Given the description of an element on the screen output the (x, y) to click on. 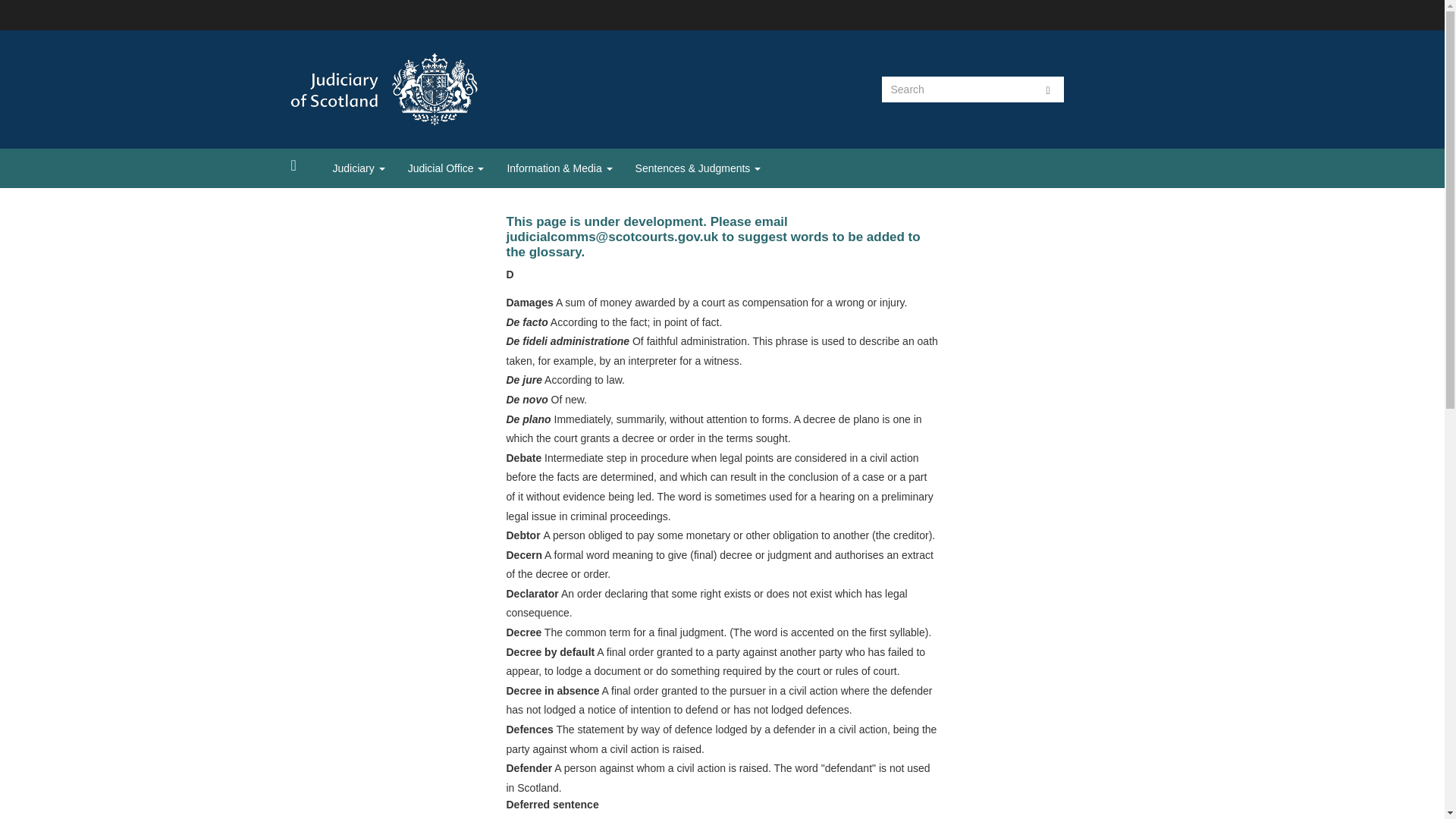
Judiciary (358, 168)
Search input (956, 89)
Search (1048, 89)
JofS-logo-350x96 (421, 89)
Judicial Office (446, 168)
